Given the description of an element on the screen output the (x, y) to click on. 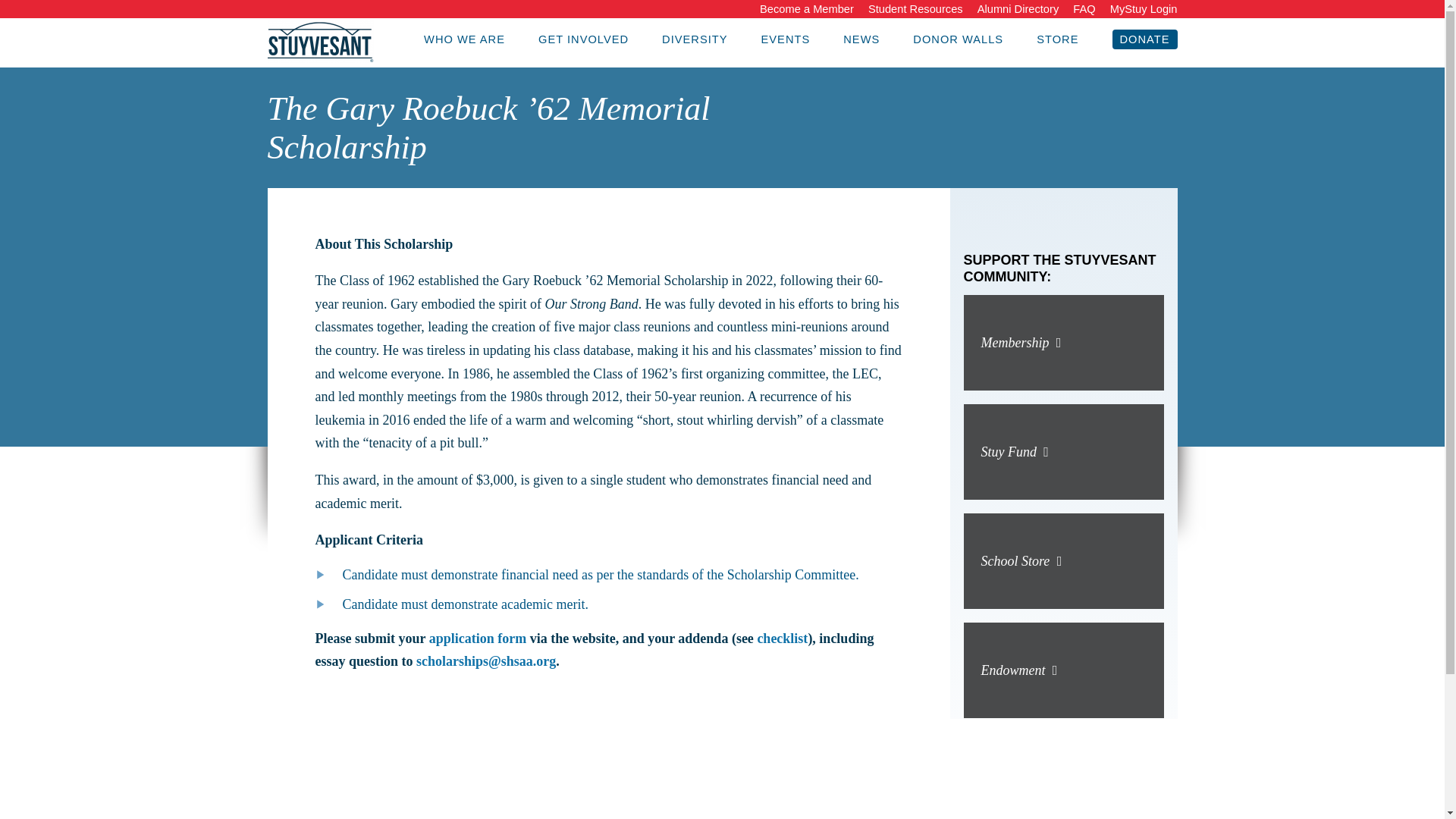
EVENTS (785, 39)
MyStuy Login (1143, 9)
NEWS (861, 39)
DIVERSITY (694, 39)
Student Resources (914, 9)
Become a Member (806, 9)
Alumni Directory (1017, 9)
FAQ (1083, 9)
WHO WE ARE (464, 39)
GET INVOLVED (583, 39)
